Given the description of an element on the screen output the (x, y) to click on. 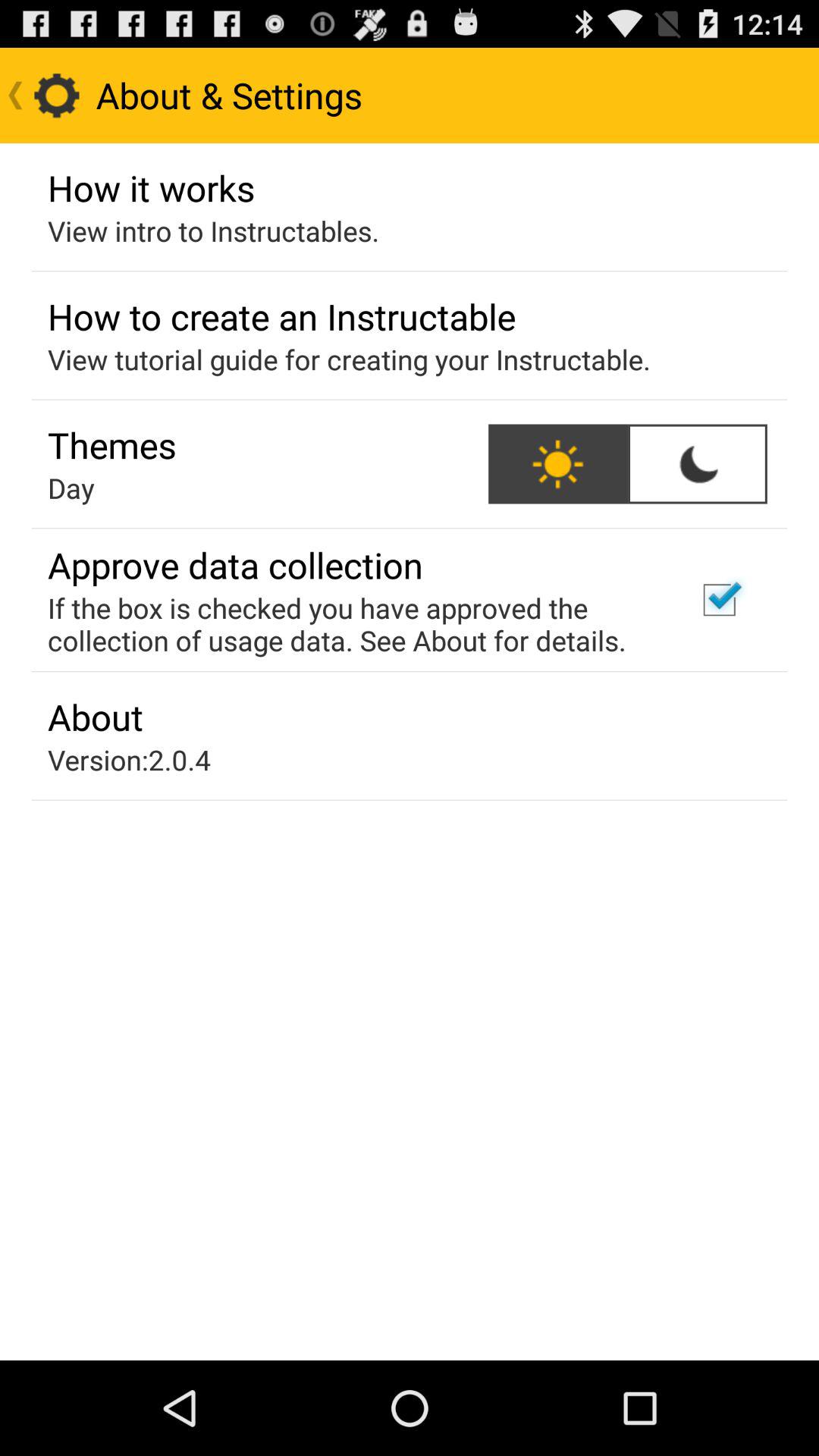
launch the app to the right of if the box (719, 599)
